Given the description of an element on the screen output the (x, y) to click on. 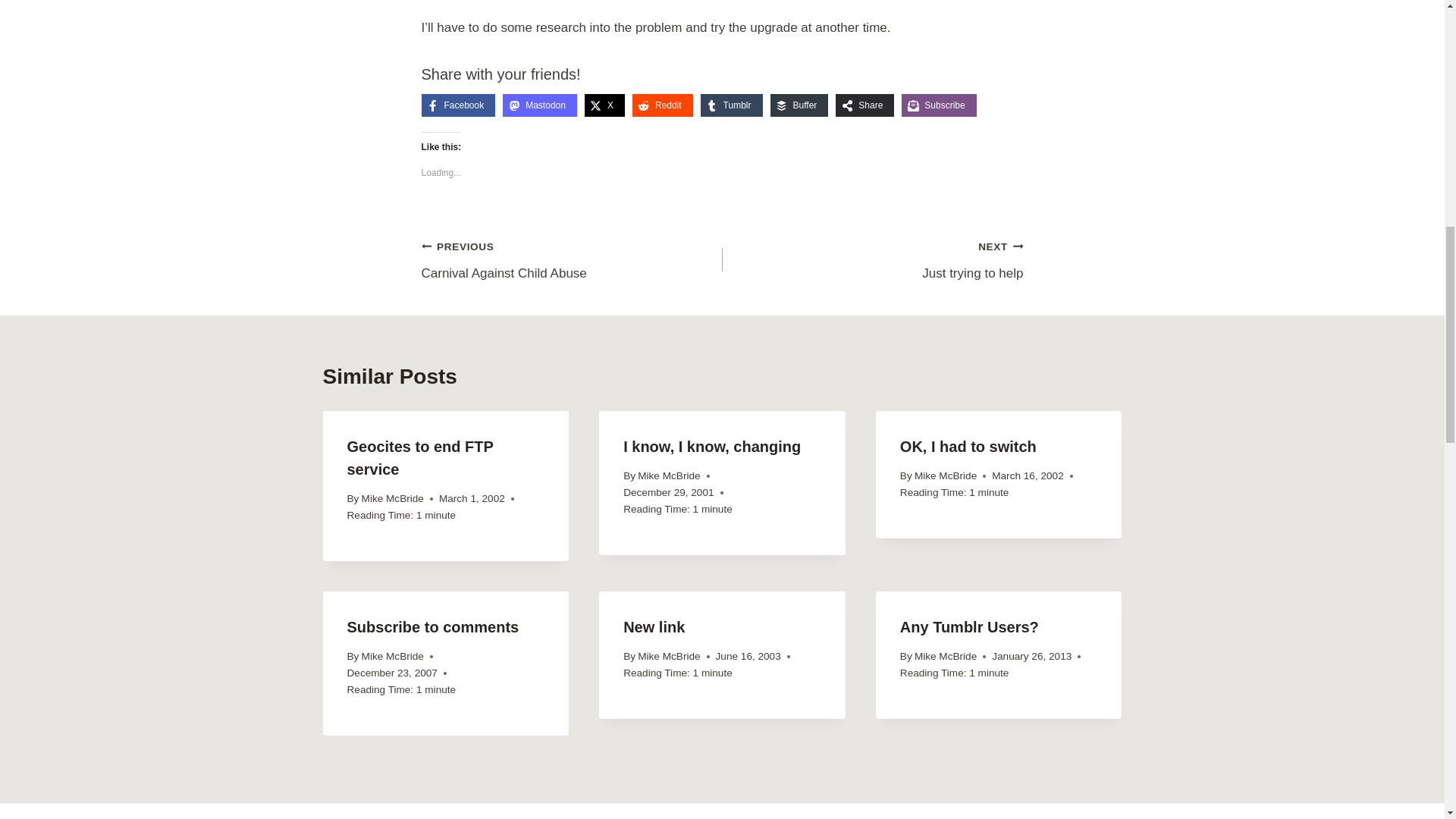
Mastodon (539, 105)
Reddit (662, 105)
Share (864, 105)
Subscribe (938, 105)
Tumblr (731, 105)
Facebook (459, 105)
Buffer (799, 105)
X (604, 105)
